Given the description of an element on the screen output the (x, y) to click on. 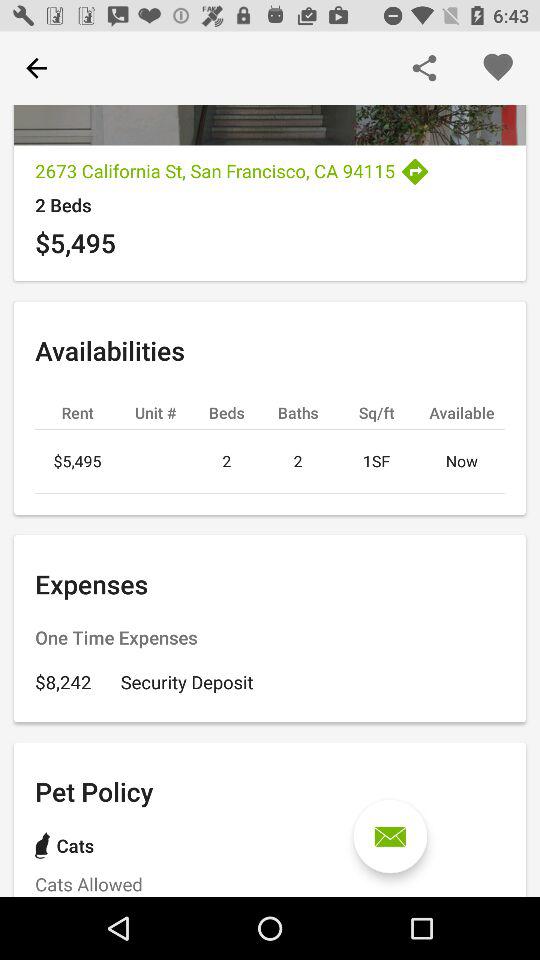
go back (36, 68)
